Given the description of an element on the screen output the (x, y) to click on. 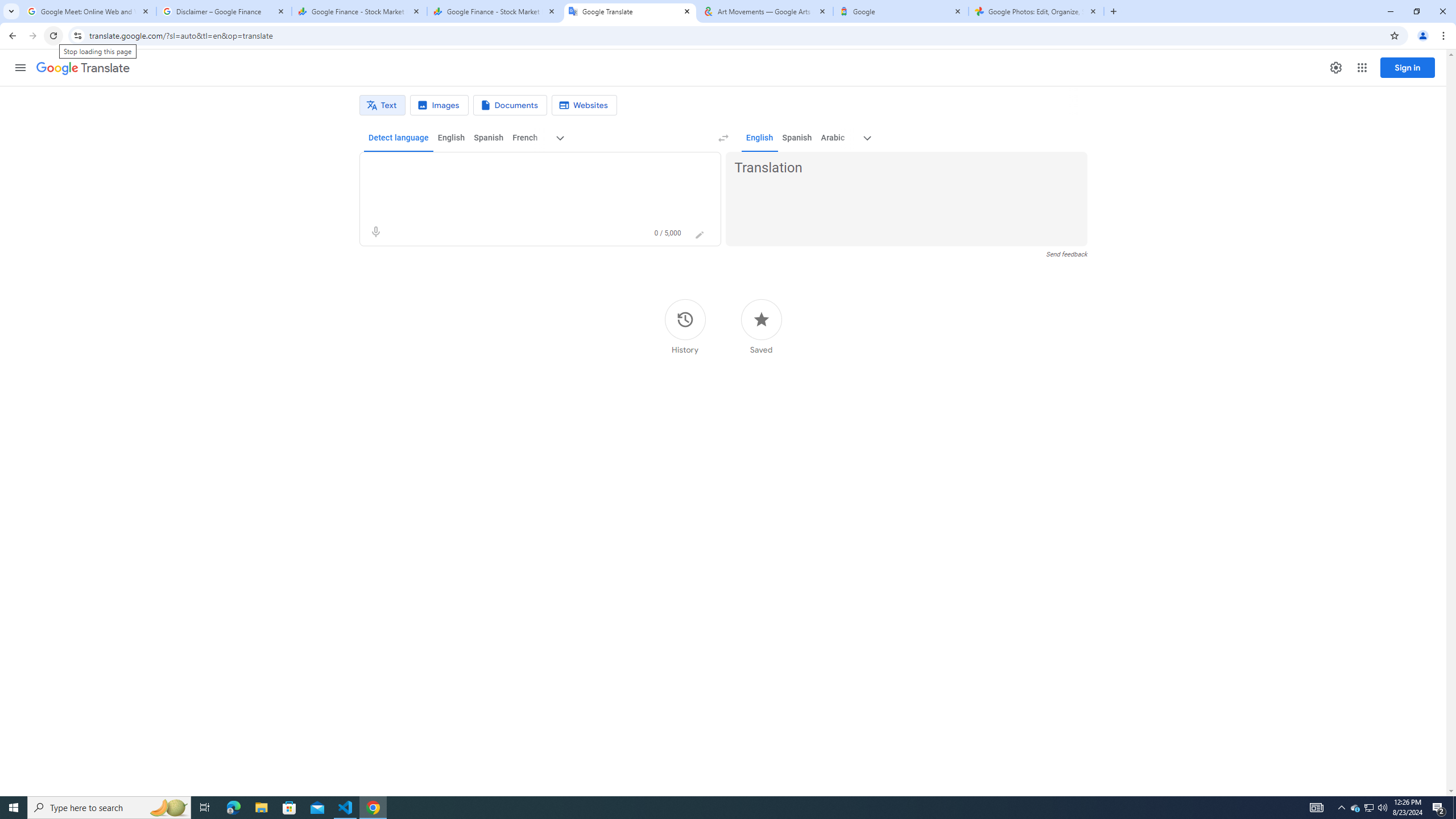
Image translation (439, 105)
Arabic (832, 137)
Saved (761, 326)
More source languages (560, 137)
Translate by voice (375, 231)
Website translation (584, 105)
English (759, 137)
